Given the description of an element on the screen output the (x, y) to click on. 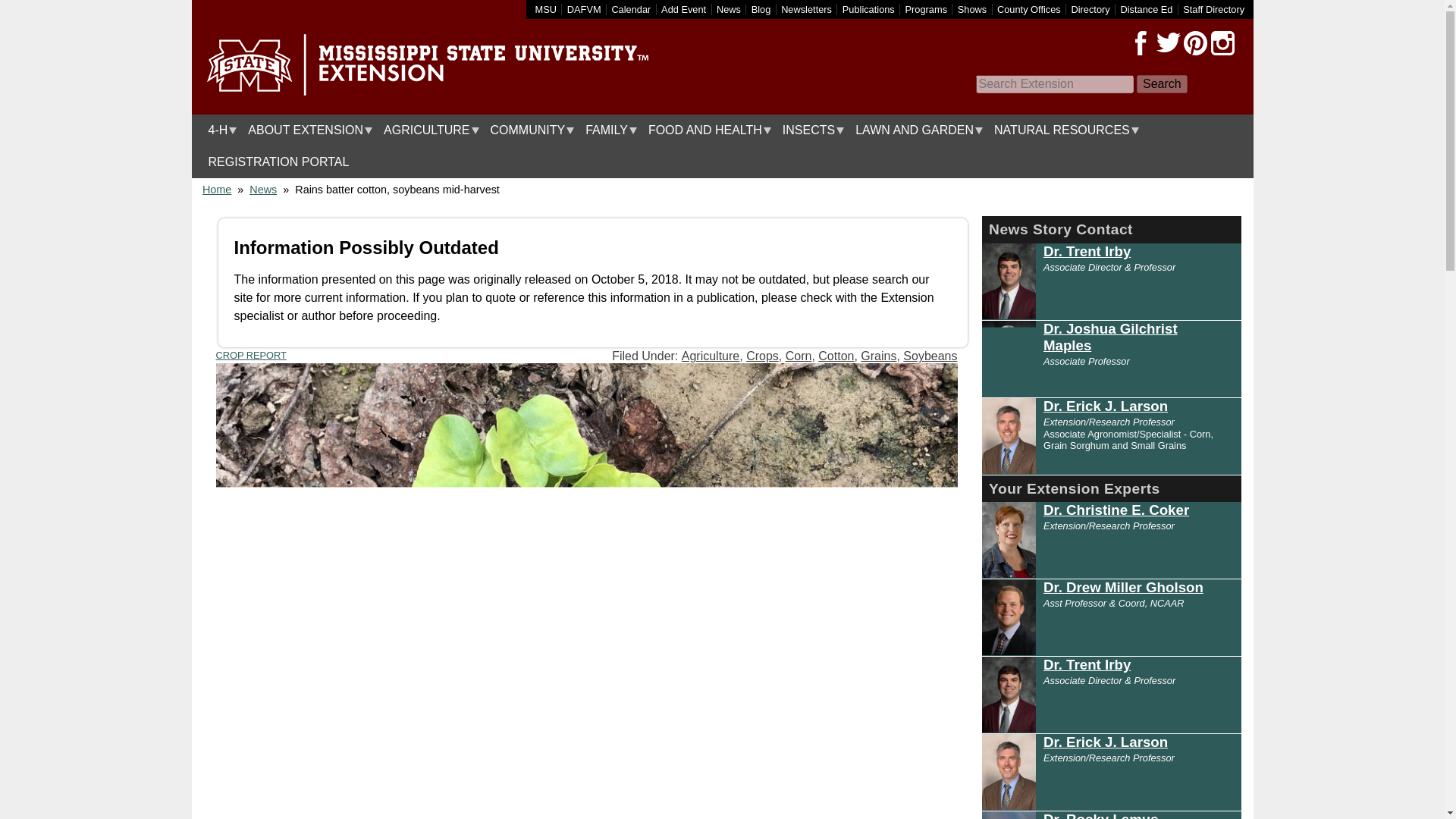
MSU (545, 9)
Publications (869, 9)
Twitter (1167, 43)
Directory (1089, 9)
Newsletters (805, 9)
Link to Mississippi State University (545, 9)
Find a county extension office (1029, 9)
County Offices (1029, 9)
The main event calendar for the MSU Extension Service (630, 9)
